Given the description of an element on the screen output the (x, y) to click on. 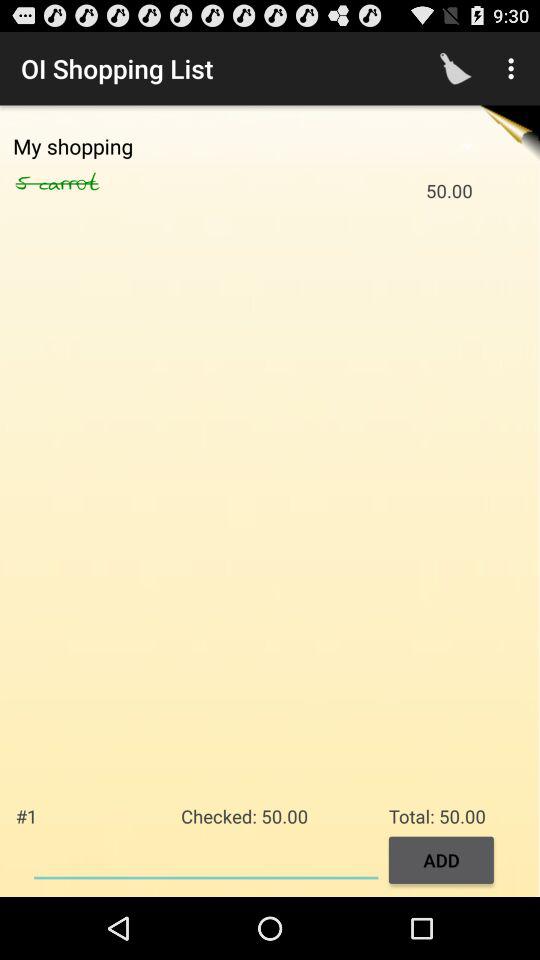
turn on the icon above the total: 50.00 icon (513, 67)
